Given the description of an element on the screen output the (x, y) to click on. 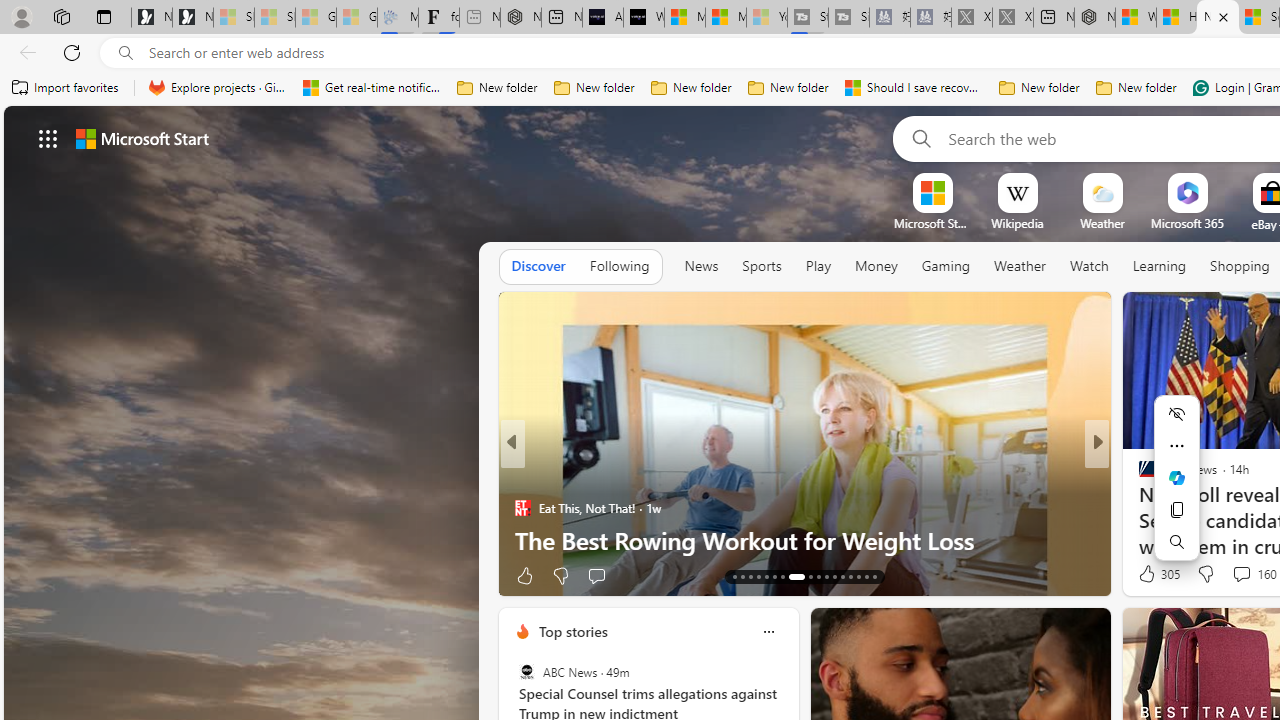
AutomationID: tab-43 (874, 576)
Microsoft start (142, 138)
AI Voice Changer for PC and Mac - Voice.ai (602, 17)
Microsoft Start Sports (932, 223)
305 Like (1157, 574)
Start the conversation (1235, 574)
New tab (1217, 17)
X - Sleeping (1012, 17)
View comments 48 Comment (11, 575)
Refresh (72, 52)
AutomationID: tab-18 (774, 576)
AutomationID: tab-19 (782, 576)
AutomationID: tab-20 (791, 576)
